Given the description of an element on the screen output the (x, y) to click on. 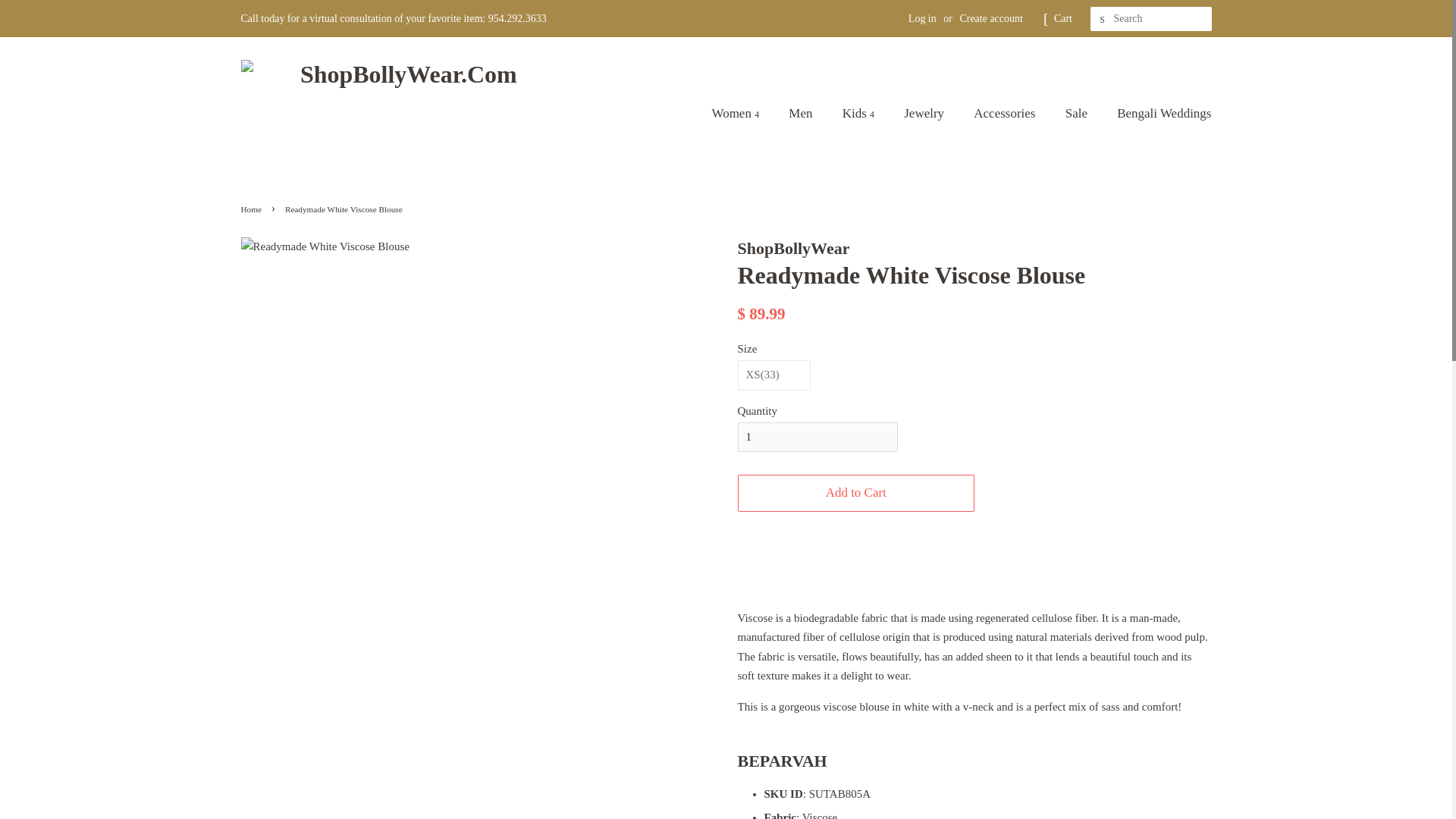
Back to the frontpage (253, 208)
Men (802, 113)
Bengali Weddings (1158, 113)
Jewelry (925, 113)
Kids (860, 113)
Home (253, 208)
Cart (1062, 18)
Women (742, 113)
Log in (922, 18)
Create account (990, 18)
1 (816, 437)
Search (1102, 18)
Accessories (1005, 113)
Sale (1078, 113)
